Given the description of an element on the screen output the (x, y) to click on. 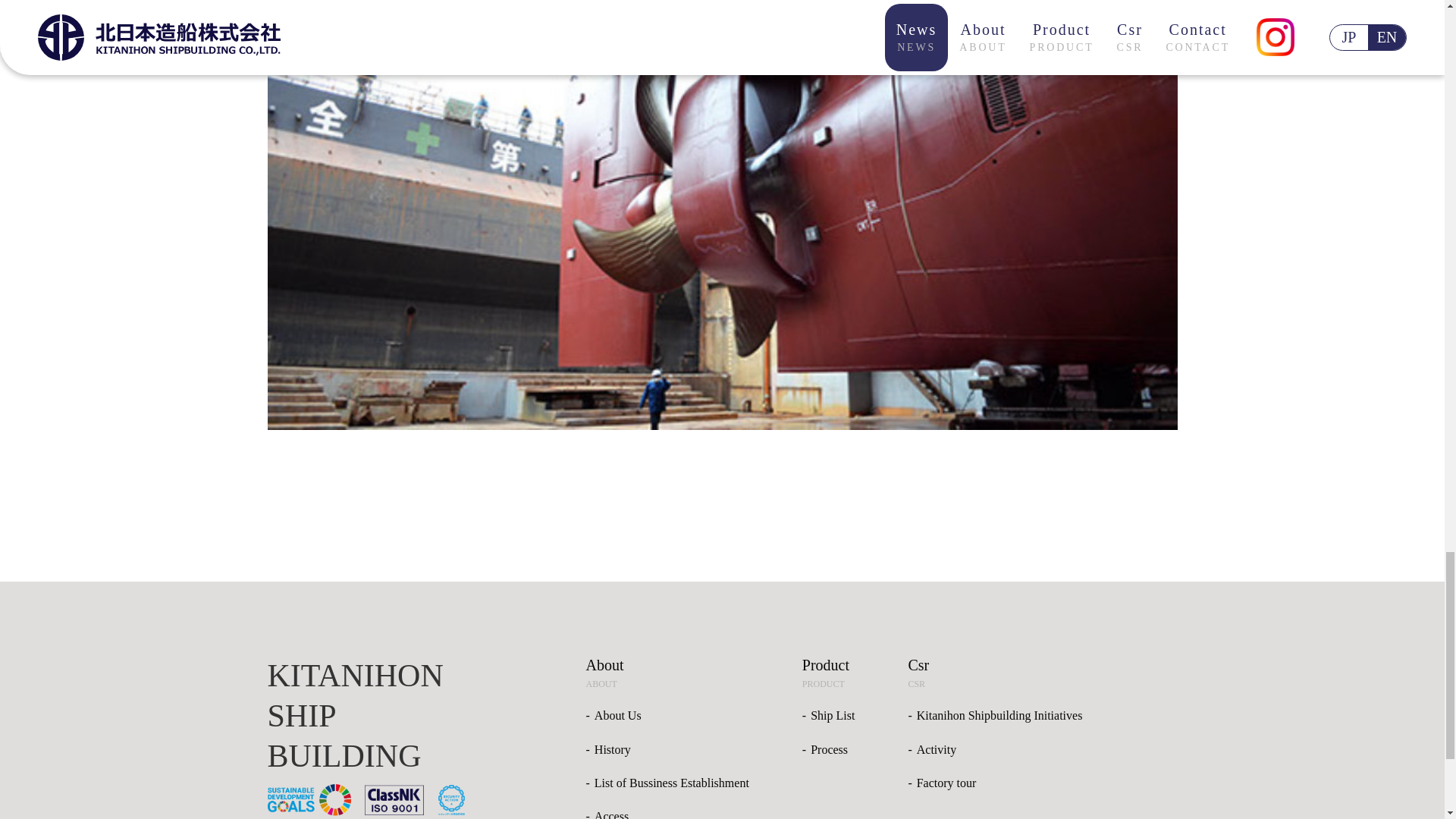
Ship List (832, 715)
History (612, 748)
Factory tour (946, 782)
Kitanihon Shipbuilding Initiatives (1000, 715)
About Us (618, 715)
Activity (936, 748)
List of Bussiness Establishment (671, 782)
Process (828, 748)
